Given the description of an element on the screen output the (x, y) to click on. 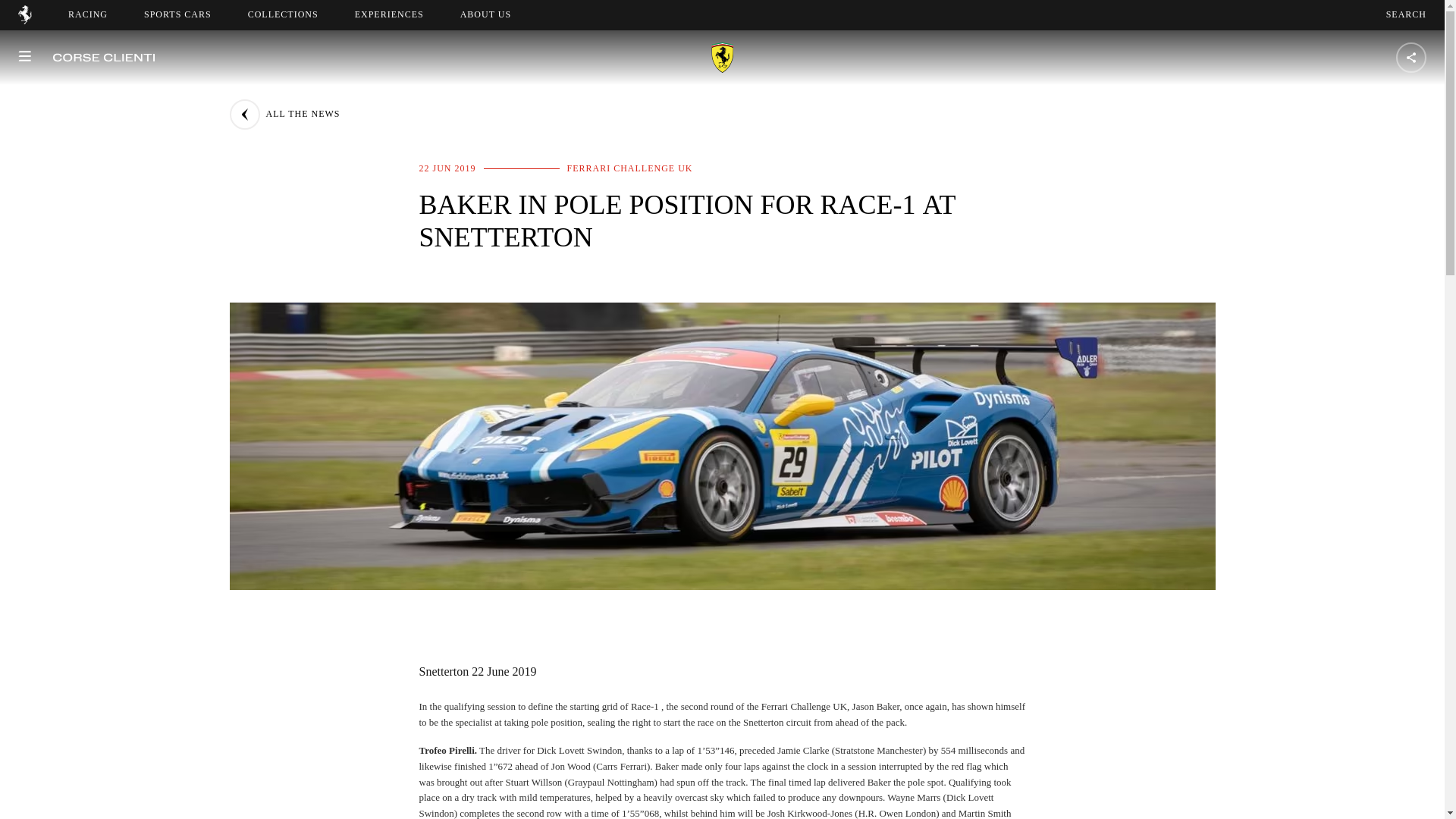
ABOUT US (485, 14)
SPORTS CARS (177, 14)
EXPERIENCES (389, 14)
ALL THE NEWS (283, 114)
RACING (87, 14)
SEARCH (1406, 14)
COLLECTIONS (499, 14)
Ferrari logo (282, 14)
